Given the description of an element on the screen output the (x, y) to click on. 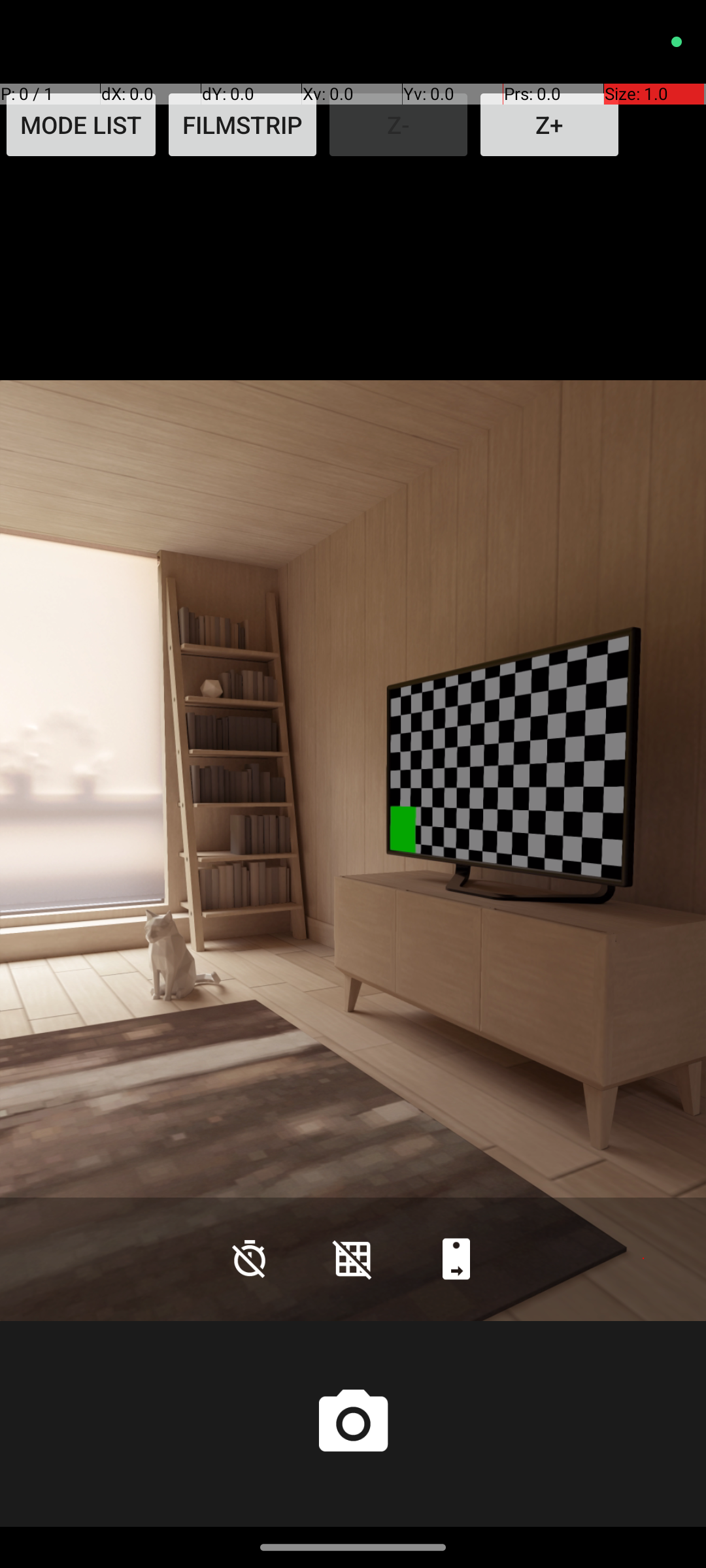
Shutter Element type: android.widget.ImageView (353, 1423)
MODE LIST Element type: android.widget.Button (81, 124)
FILMSTRIP Element type: android.widget.Button (242, 124)
Z- Element type: android.widget.Button (397, 124)
Z+ Element type: android.widget.Button (548, 124)
Countdown timer is off Element type: android.widget.ImageButton (249, 1258)
Grid lines off Element type: android.widget.ImageButton (352, 1258)
Back camera Element type: android.widget.ImageButton (456, 1258)
